Given the description of an element on the screen output the (x, y) to click on. 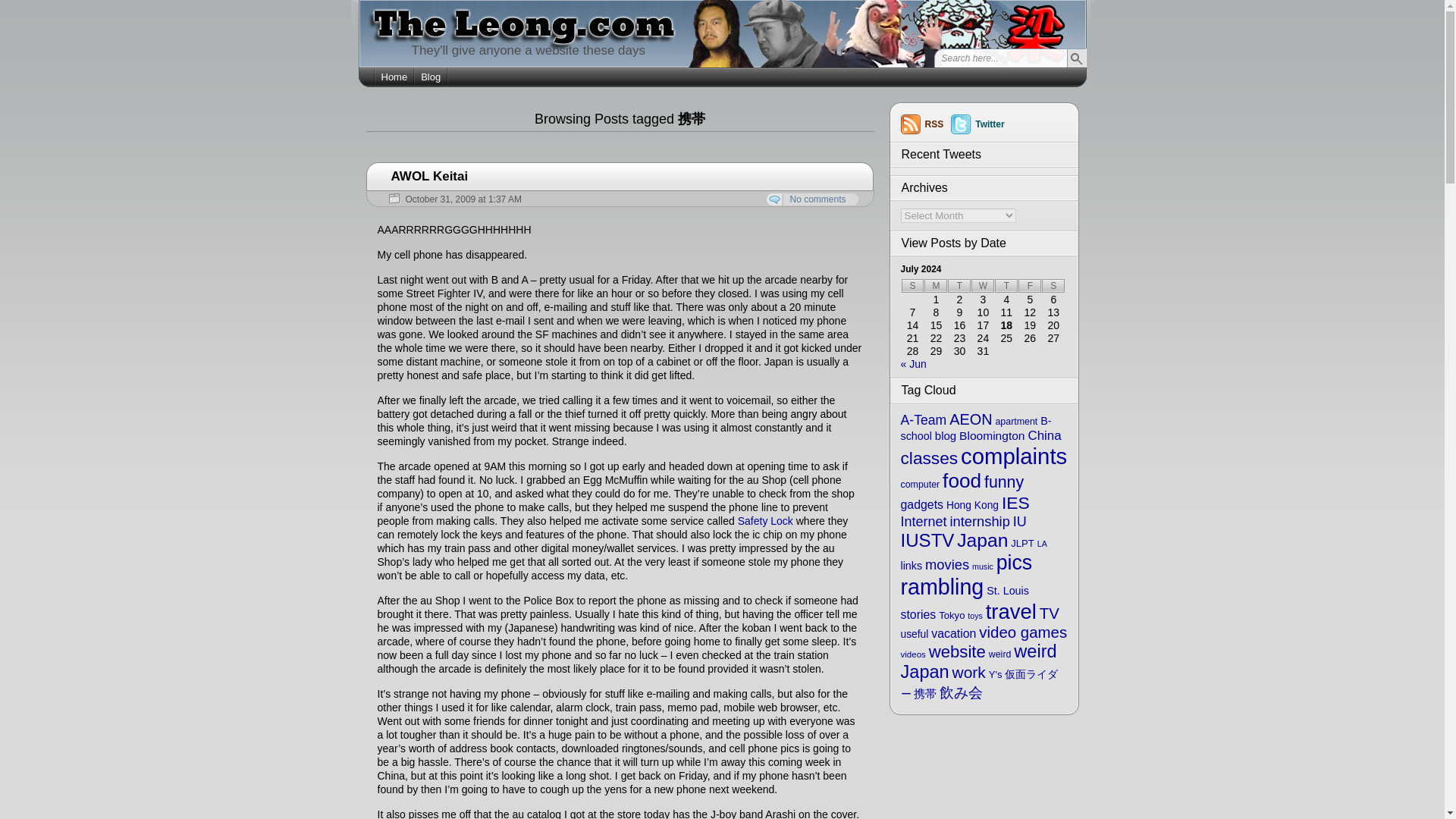
Monday (935, 285)
Wednesday (982, 285)
Search here... (999, 57)
Search here... (999, 57)
Blog (430, 76)
Safety Lock (765, 521)
Find (1074, 57)
Home (393, 76)
Permalink to AWOL Keitai (429, 175)
No comments (812, 199)
Friday (1029, 285)
Find (1074, 57)
Thursday (1005, 285)
Find (1074, 57)
Saturday (1053, 285)
